Given the description of an element on the screen output the (x, y) to click on. 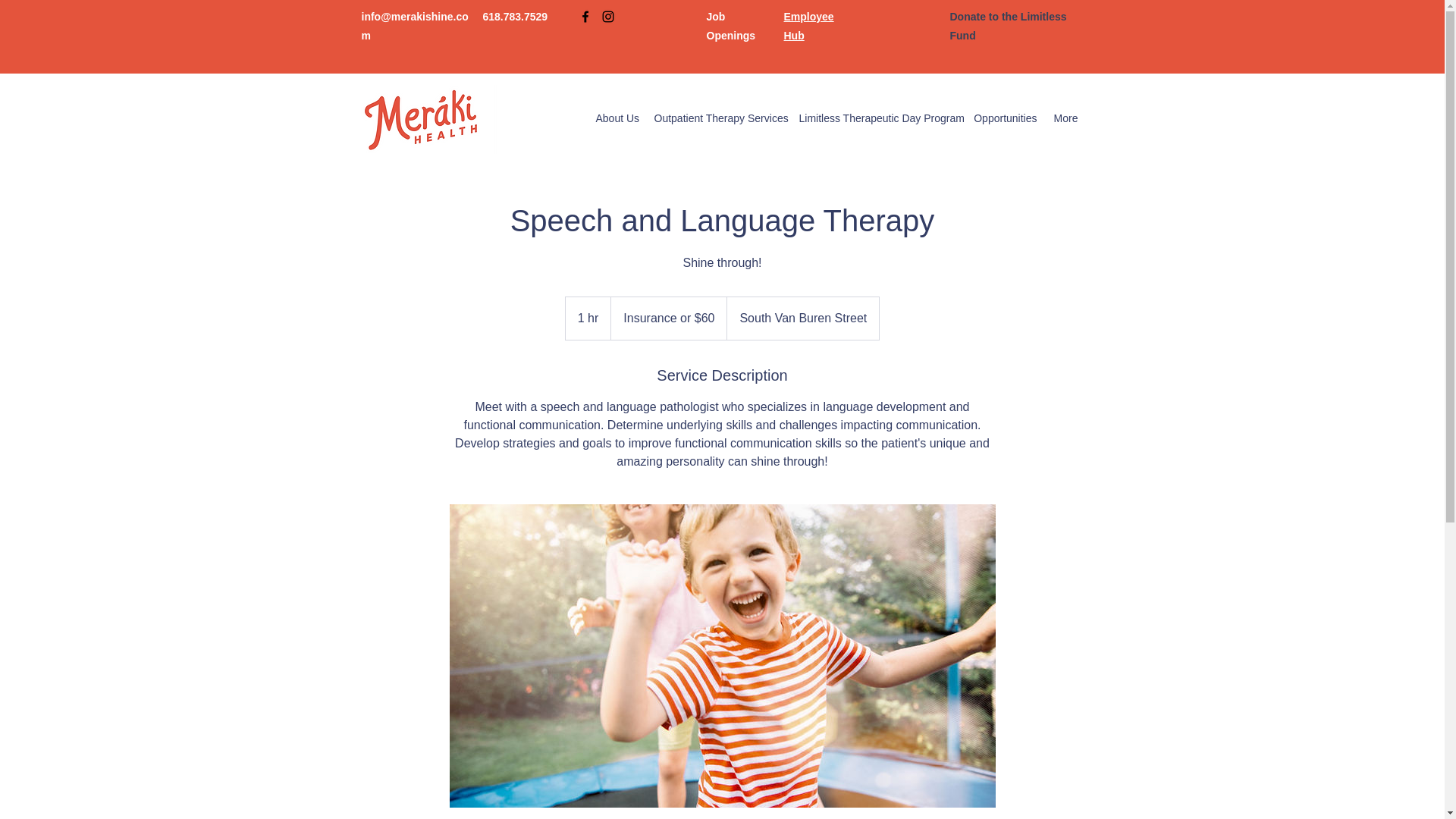
Employee Hub (809, 25)
Opportunities (1005, 118)
618.783.7529 (514, 16)
Job Openings (730, 25)
Outpatient Therapy Services (718, 118)
Donate to the Limitless Fund (1007, 25)
Limitless Therapeutic Day Program (879, 118)
